Given the description of an element on the screen output the (x, y) to click on. 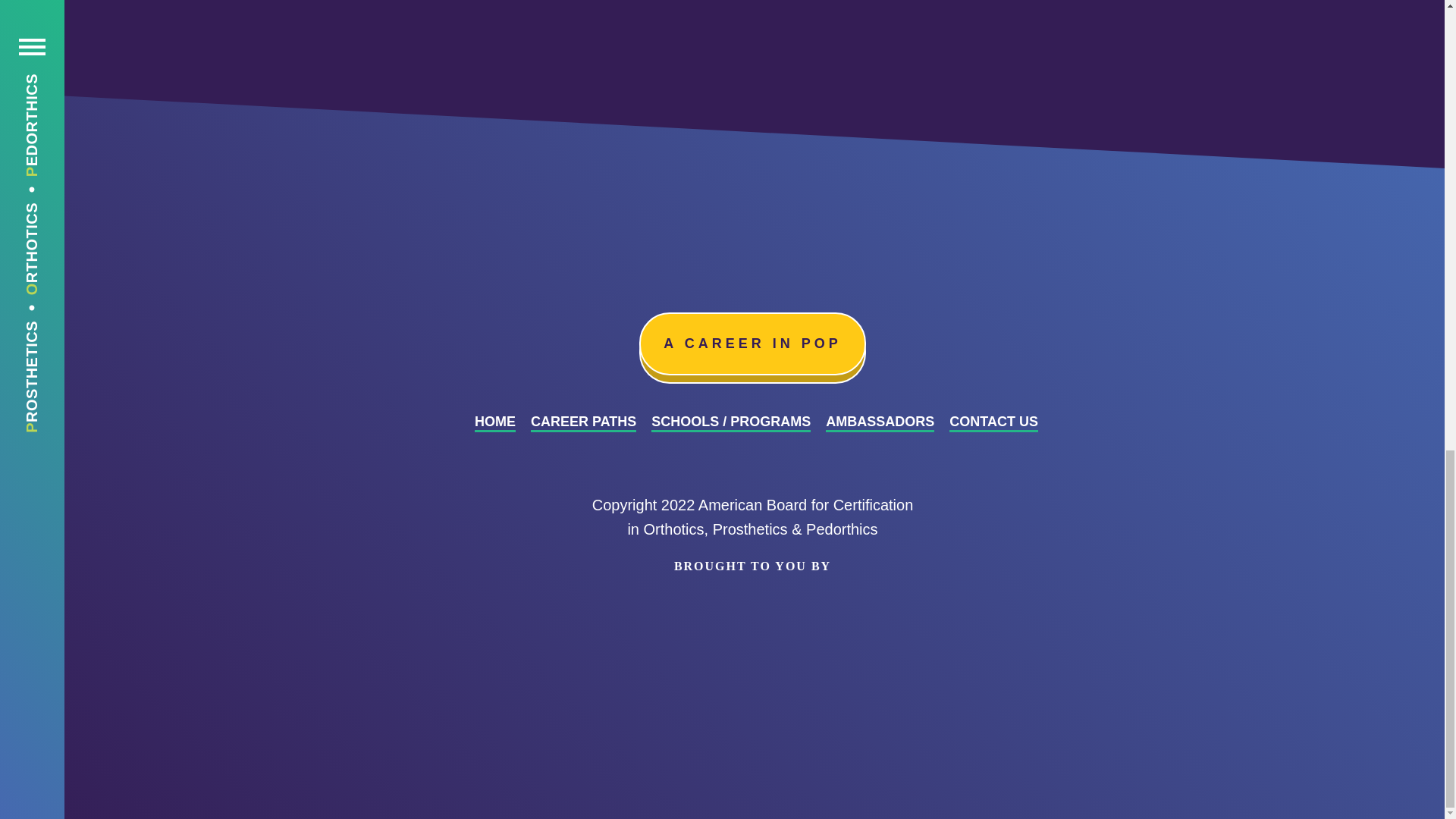
AMBASSADORS (879, 423)
CAREER PATHS (583, 423)
A CAREER IN POP (751, 343)
HOME (494, 423)
CONTACT US (993, 423)
